Given the description of an element on the screen output the (x, y) to click on. 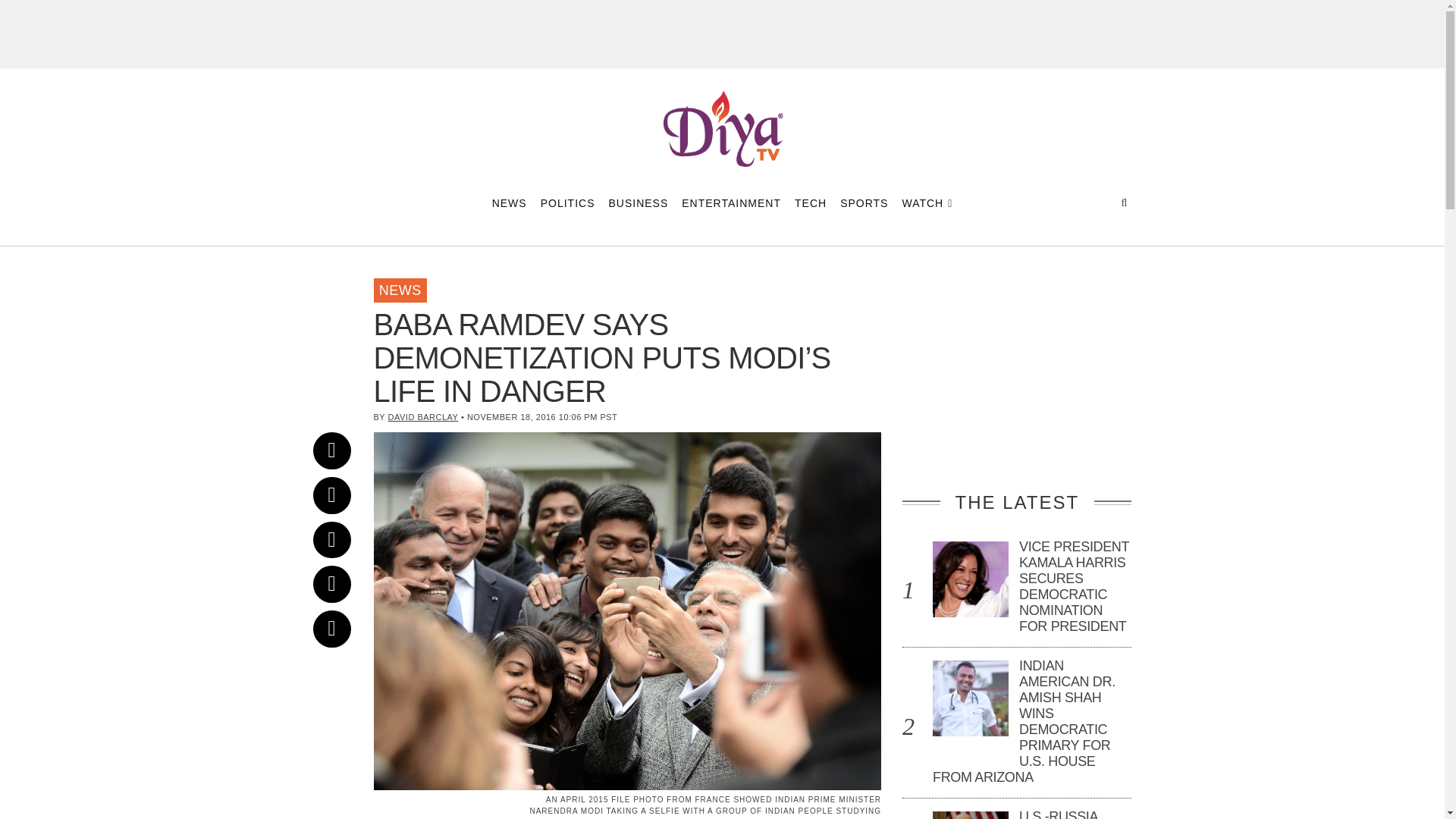
SPORTS (864, 202)
November 18, 2016 (342, 278)
BUSINESS (638, 202)
ENTERTAINMENT (730, 202)
WATCH (926, 202)
DAVID BARCLAY (423, 416)
NEWS (399, 290)
POLITICS (567, 202)
